Given the description of an element on the screen output the (x, y) to click on. 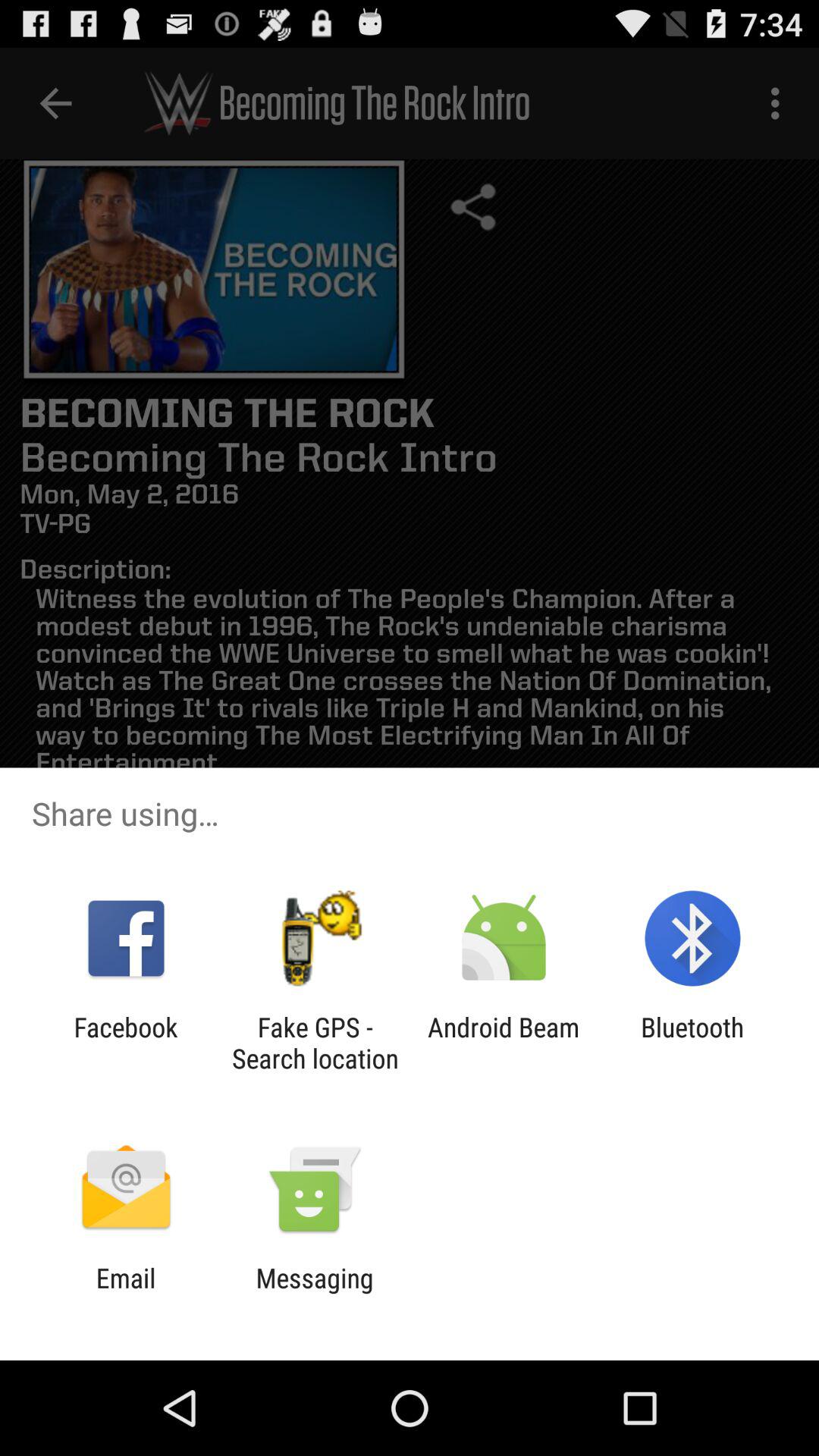
turn on messaging (314, 1293)
